Given the description of an element on the screen output the (x, y) to click on. 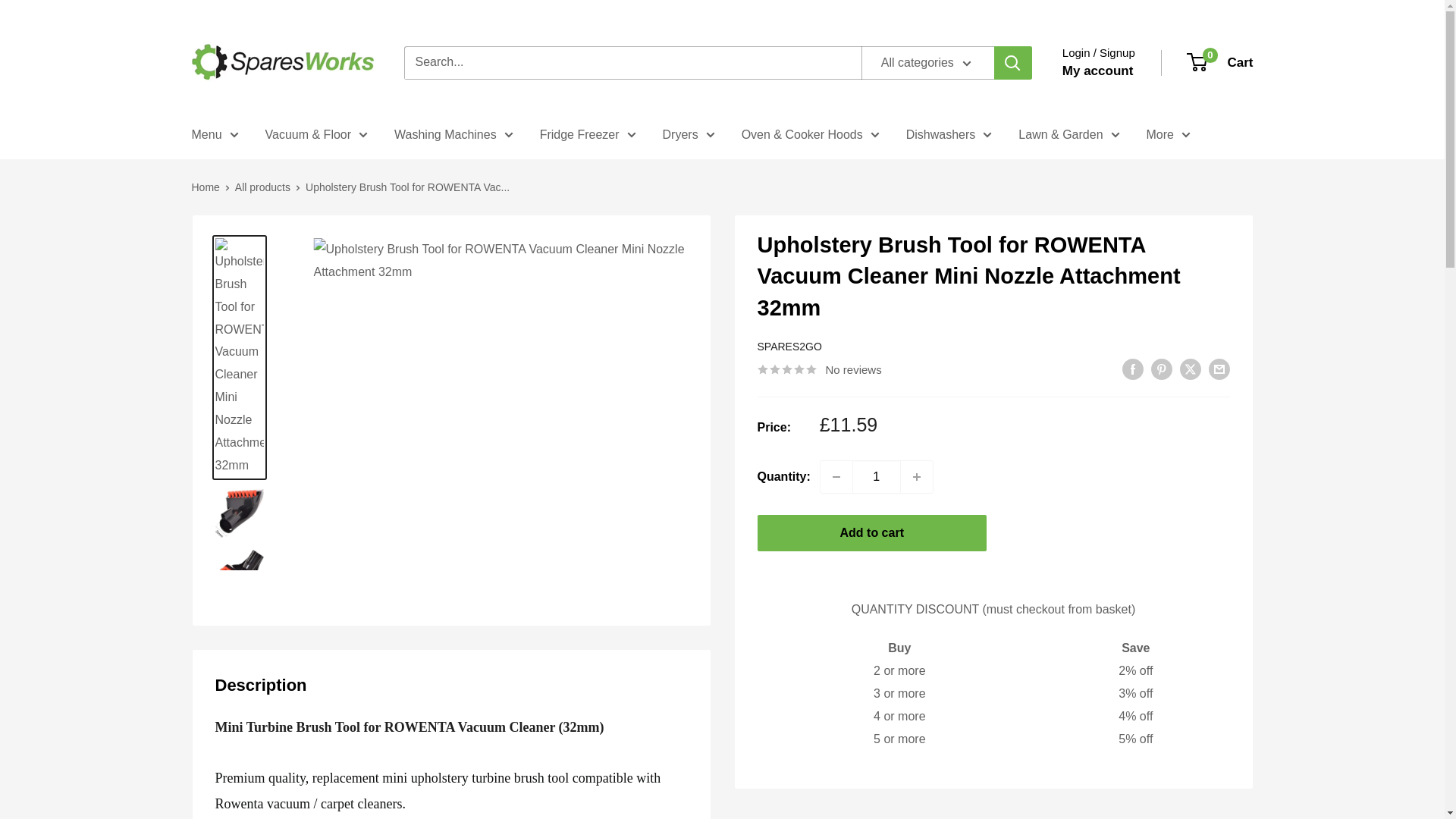
Decrease quantity by 1 (836, 477)
1 (876, 477)
Increase quantity by 1 (917, 477)
